Given the description of an element on the screen output the (x, y) to click on. 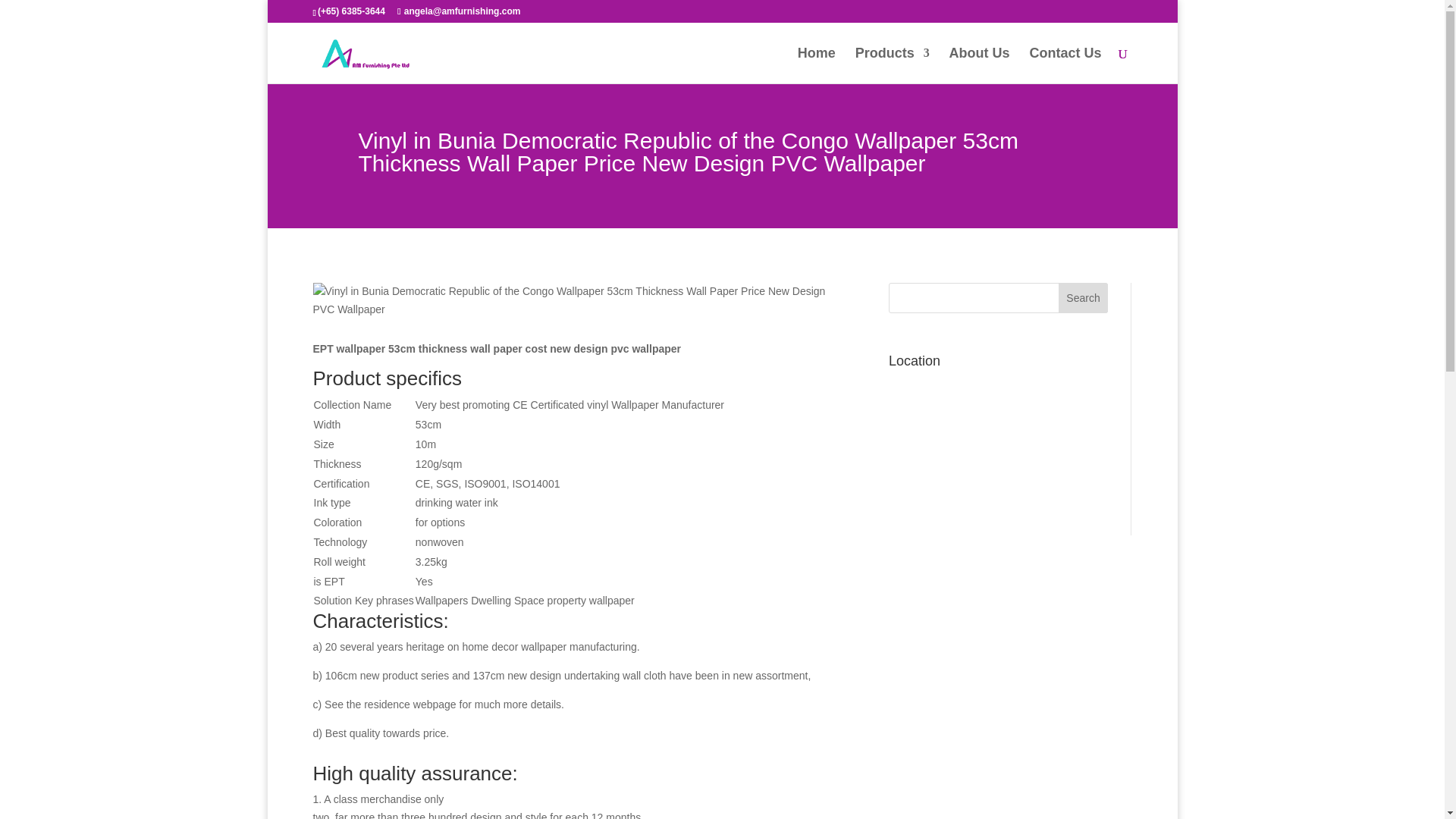
Home (816, 65)
Contact Us (1064, 65)
About Us (979, 65)
Products (893, 65)
Search (1083, 297)
Search (1083, 297)
